Given the description of an element on the screen output the (x, y) to click on. 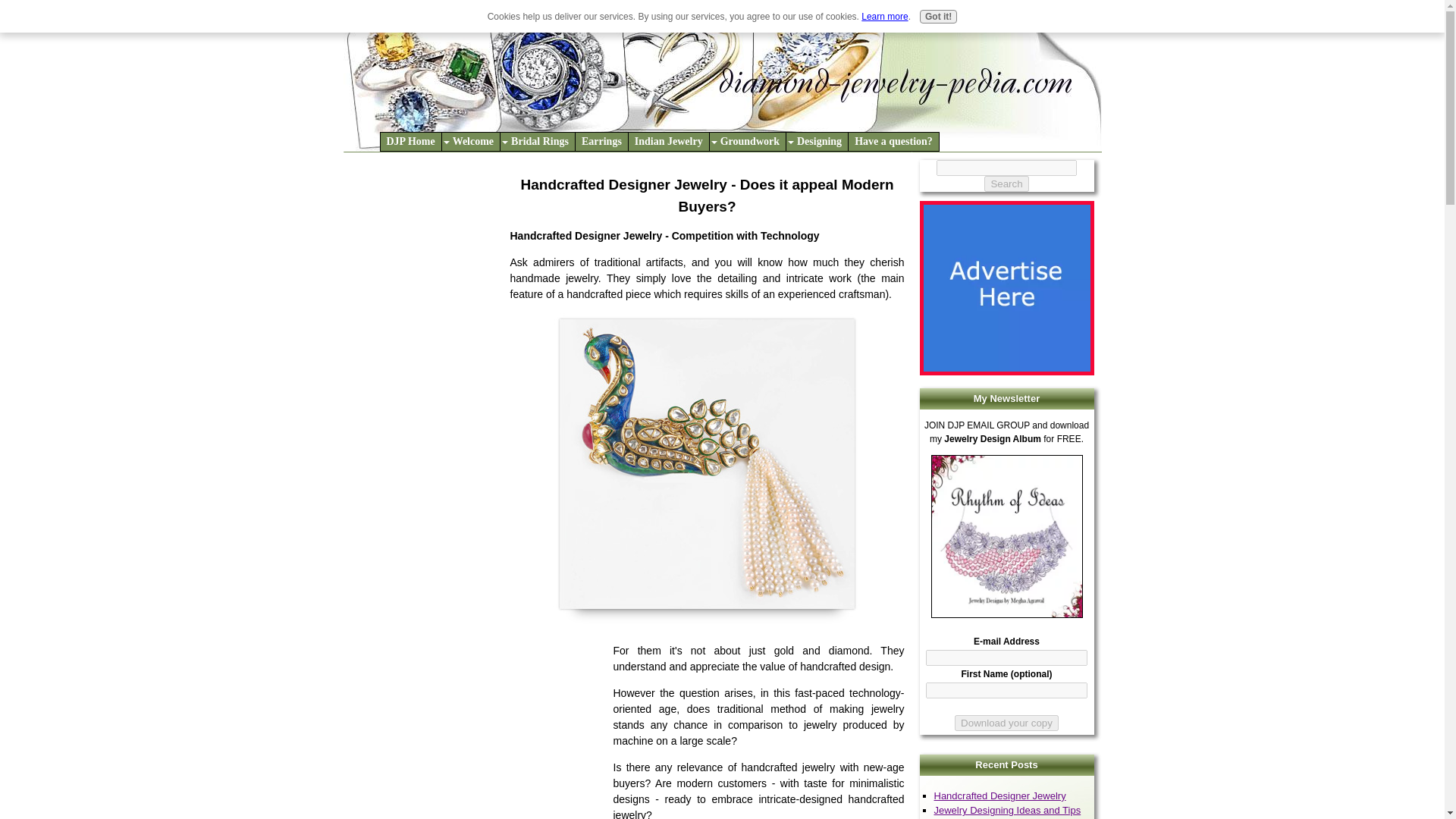
Handcrafted Designer Armband (707, 470)
Advertisement (426, 235)
Indian Jewelry (668, 141)
Search (1005, 183)
Advertisement (477, 730)
Download your copy (1006, 722)
Earrings (601, 141)
Go to Contact Us (1005, 371)
DJP Home (410, 141)
